Given the description of an element on the screen output the (x, y) to click on. 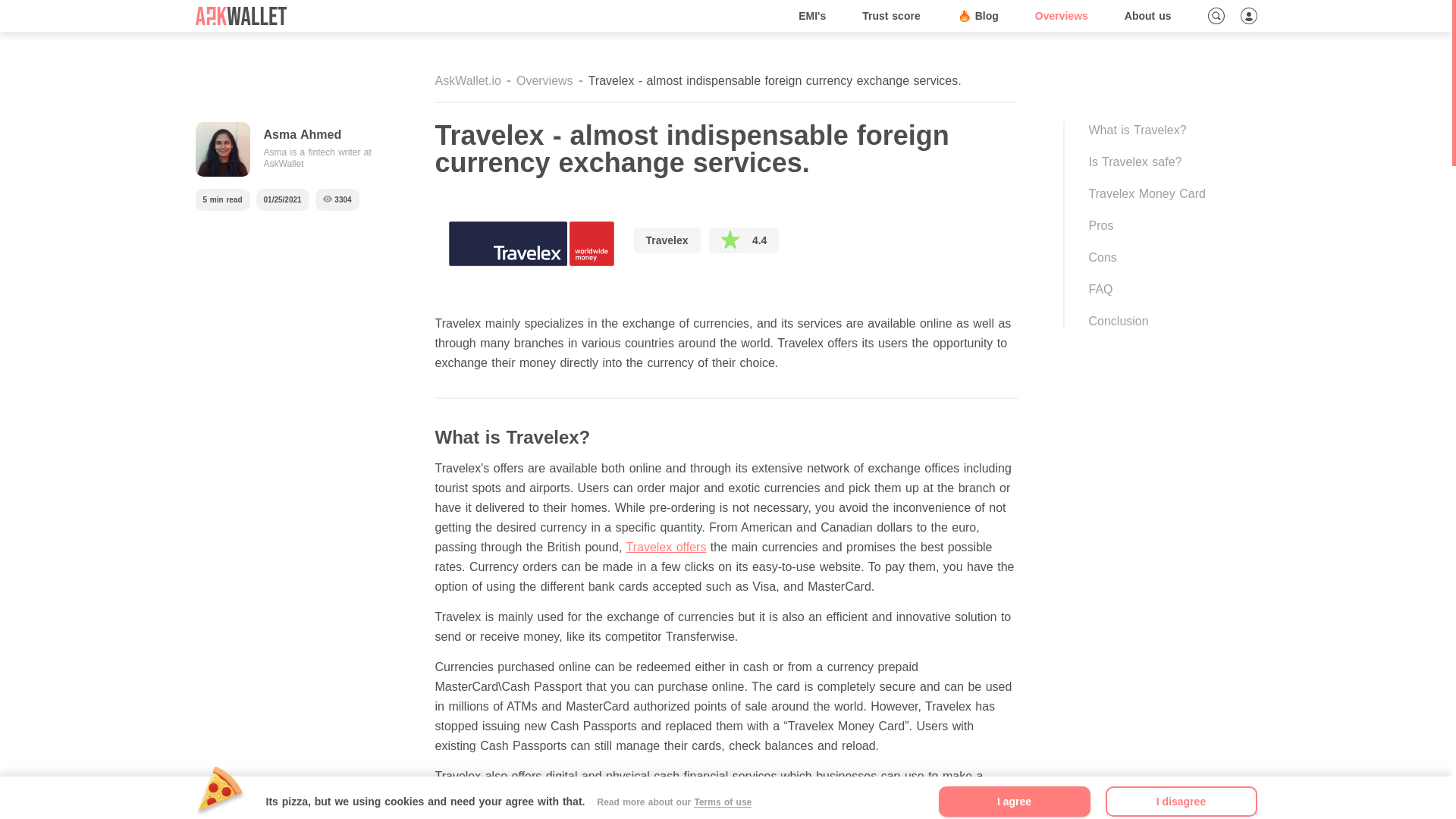
I agree (1014, 801)
link (981, 795)
AskWallet.io (467, 80)
Overviews (1061, 15)
Blog (977, 15)
I disagree (1181, 801)
EMI's (240, 15)
Trust score (890, 15)
Overviews (544, 80)
Travelex offers (666, 546)
